Given the description of an element on the screen output the (x, y) to click on. 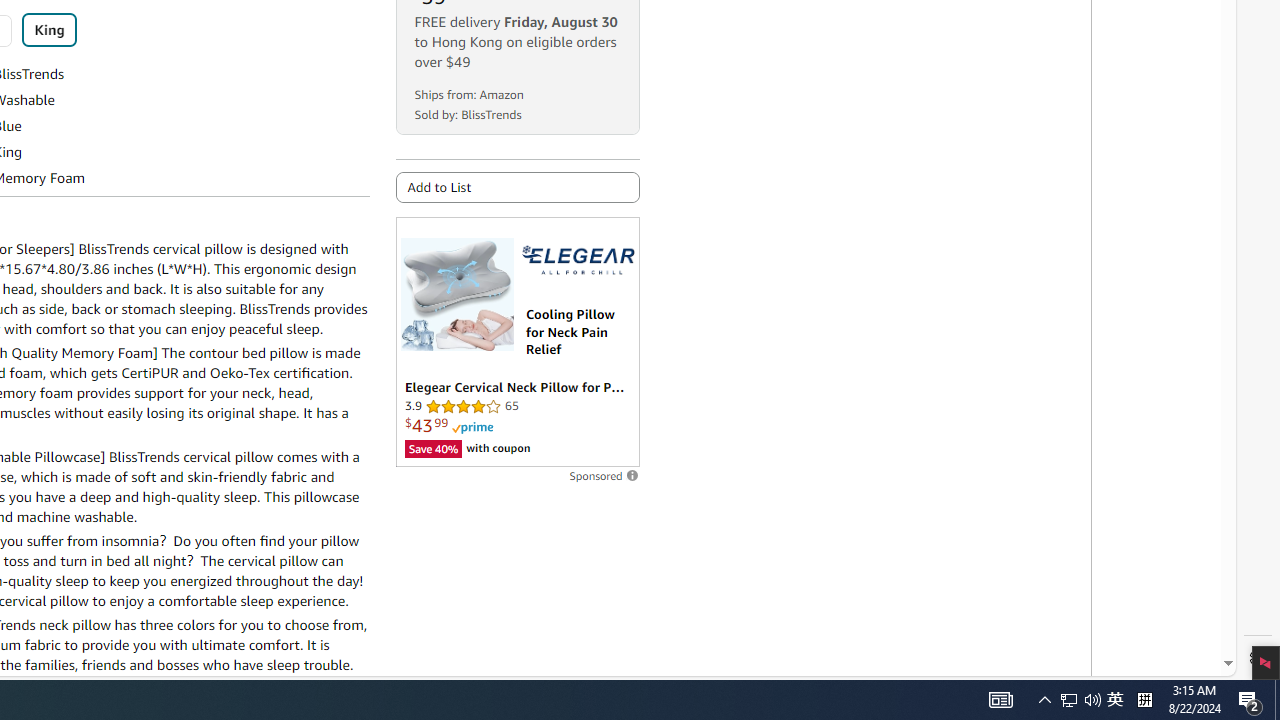
Prime (472, 427)
Add to List (516, 187)
King (49, 29)
Logo (577, 259)
Sponsored ad (516, 341)
